Given the description of an element on the screen output the (x, y) to click on. 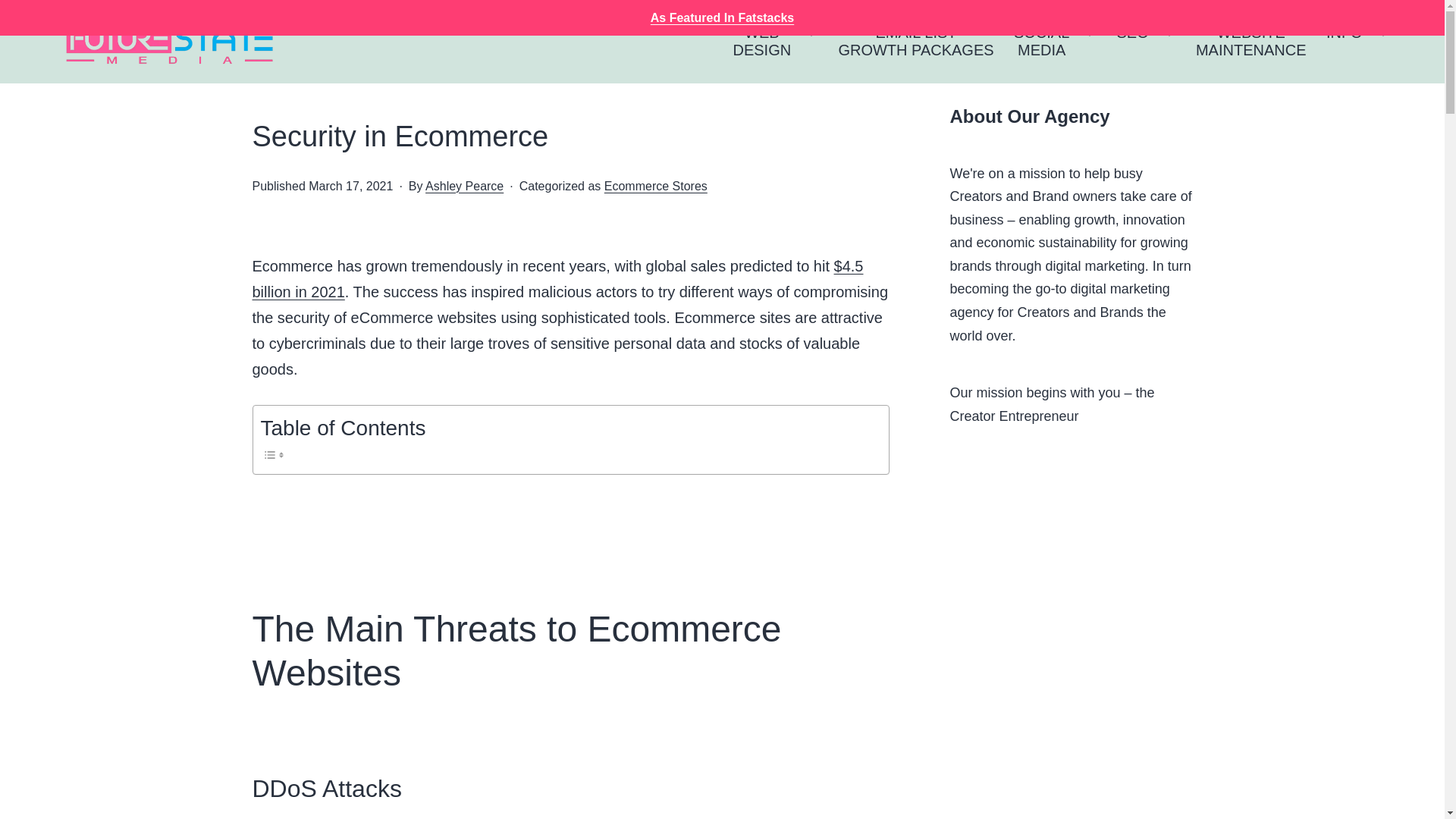
Ashley Pearce (464, 185)
INFO (1344, 41)
SEO (761, 41)
As Featured In Fatstacks (1132, 41)
Ecommerce Stores (1251, 41)
